Given the description of an element on the screen output the (x, y) to click on. 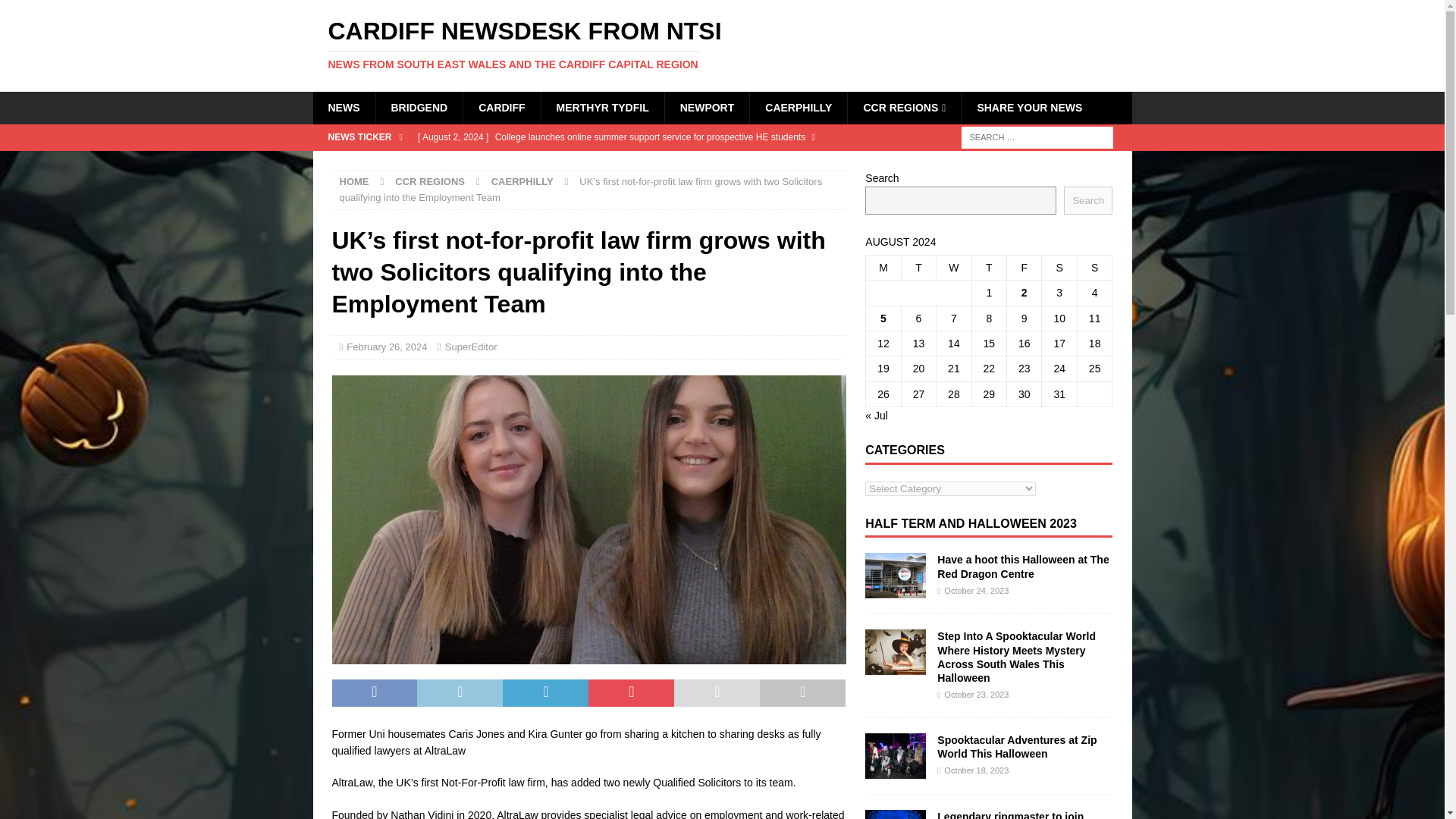
CCR REGIONS (903, 107)
NEWS (343, 107)
CAERPHILLY (798, 107)
BRIDGEND (418, 107)
Cardiff Newsdesk from ntsi (721, 44)
SHARE YOUR NEWS (1028, 107)
MERTHYR TYDFIL (601, 107)
CARDIFF (501, 107)
NEWPORT (706, 107)
